Given the description of an element on the screen output the (x, y) to click on. 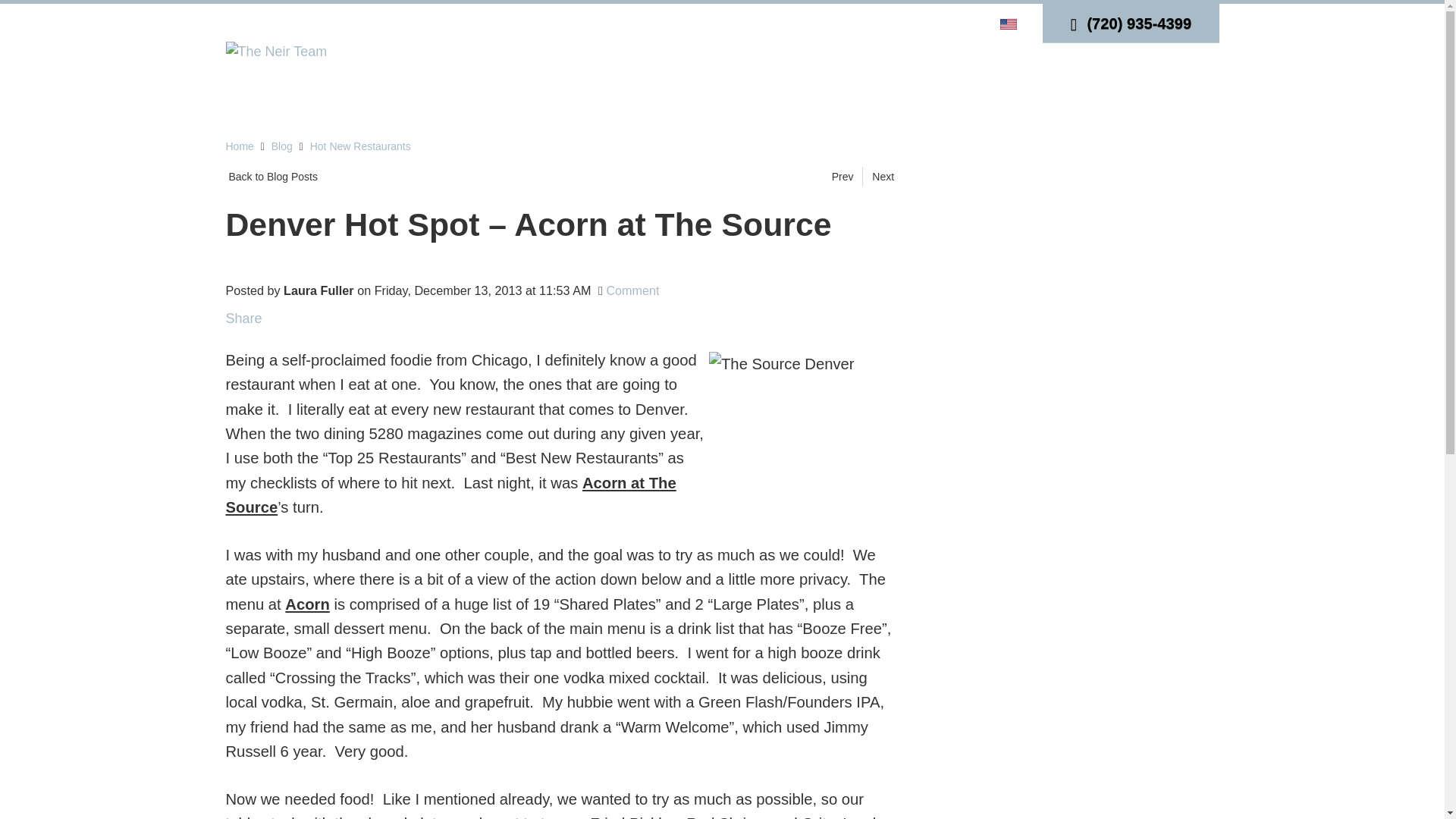
Select Language (1010, 23)
Register (925, 23)
Login (876, 23)
Acorn at The Source Denver (801, 444)
Home Page (276, 50)
